Given the description of an element on the screen output the (x, y) to click on. 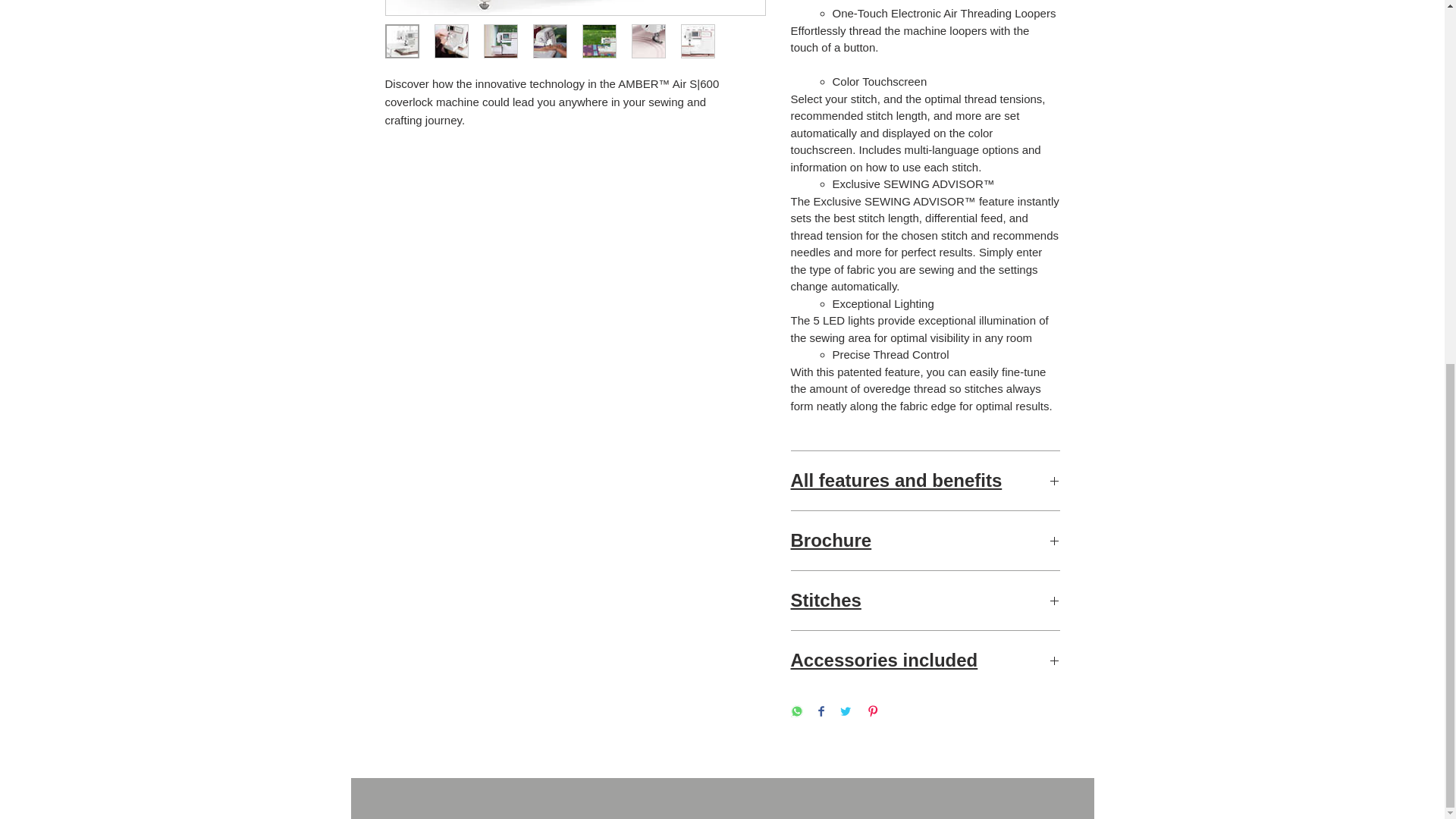
Brochure (924, 540)
All features and benefits (924, 480)
Stitches (924, 599)
Accessories included (924, 660)
